Given the description of an element on the screen output the (x, y) to click on. 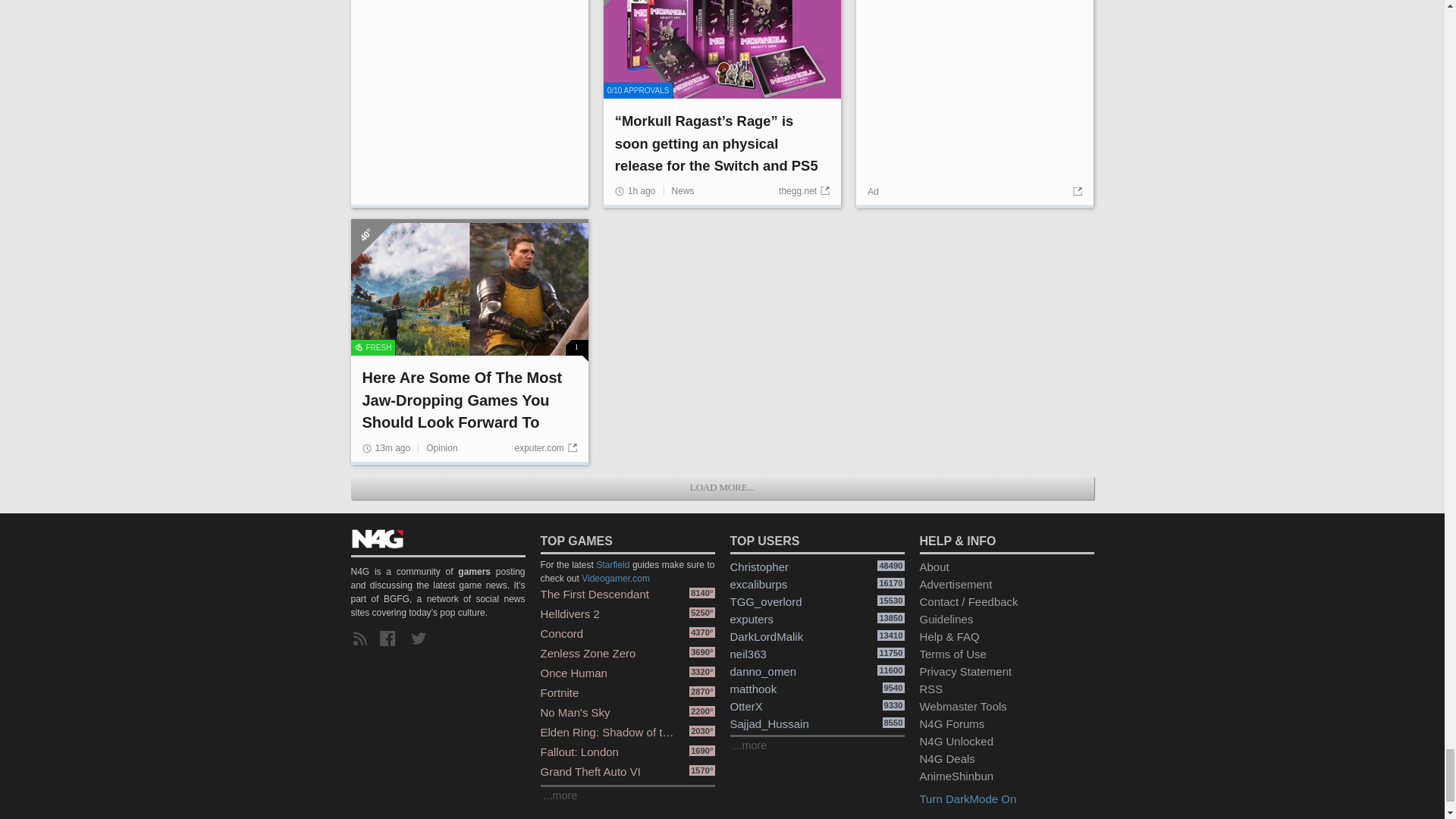
Go to source: thegg.net (803, 190)
RSS Feed (362, 639)
Go to source: exputer.com (544, 448)
Our facebook page (390, 639)
Go to source (1074, 191)
Our twitter page (421, 639)
